Given the description of an element on the screen output the (x, y) to click on. 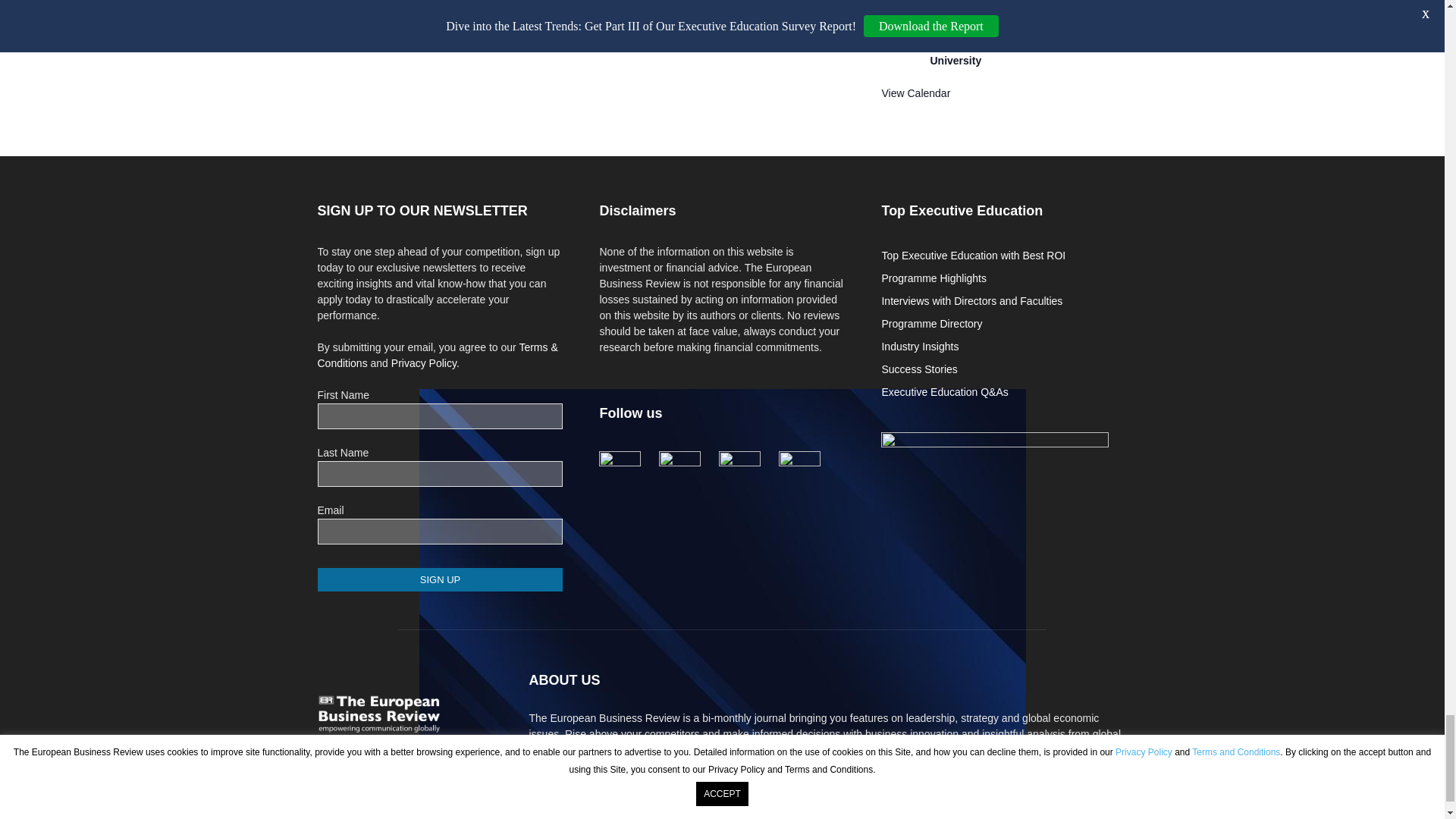
SIGN UP (439, 579)
